Given the description of an element on the screen output the (x, y) to click on. 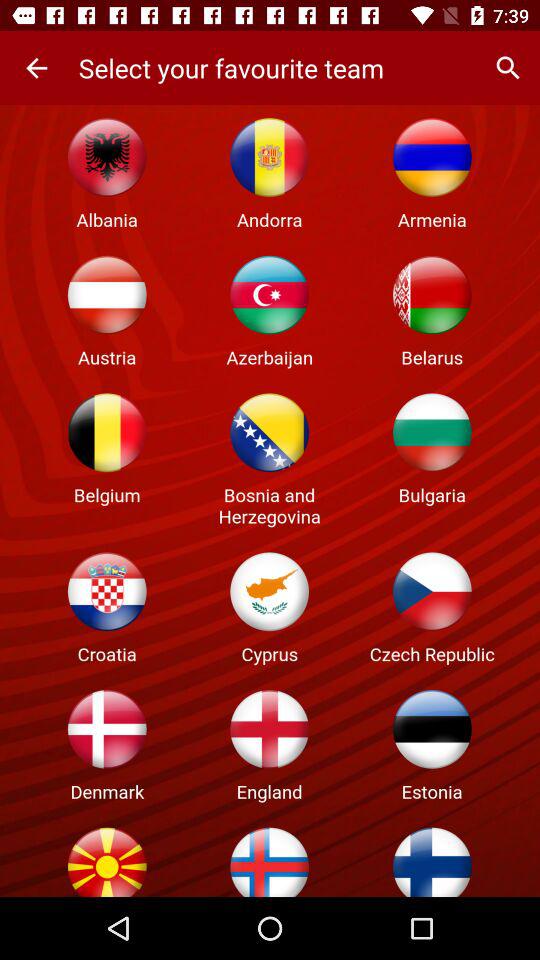
turn on app to the left of select your favourite item (36, 68)
